Given the description of an element on the screen output the (x, y) to click on. 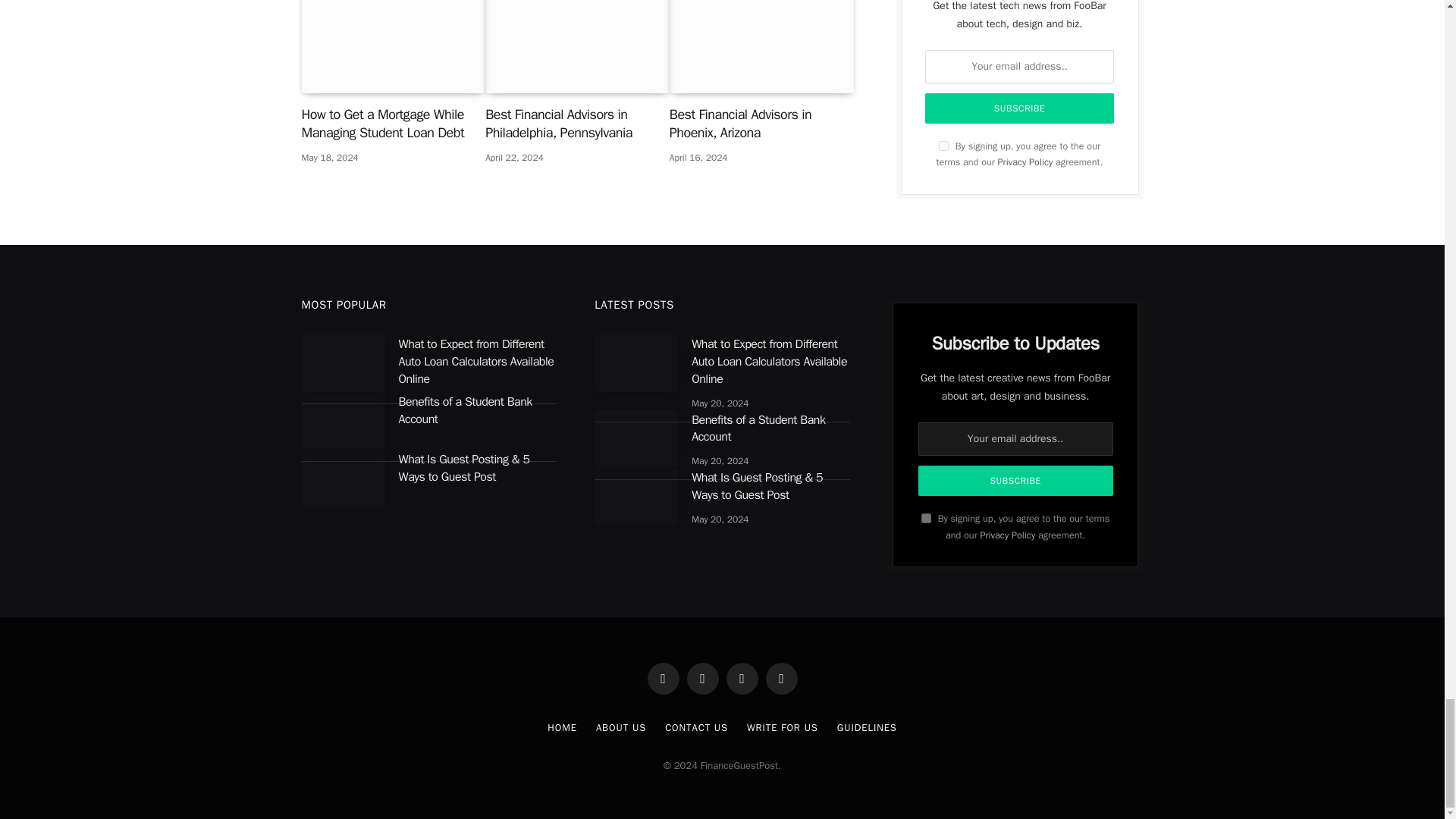
on (926, 518)
How to Get a Mortgage While Managing Student Loan Debt (393, 46)
Best Financial Advisors in Philadelphia, Pennsylvania (576, 46)
Subscribe (1015, 481)
